Given the description of an element on the screen output the (x, y) to click on. 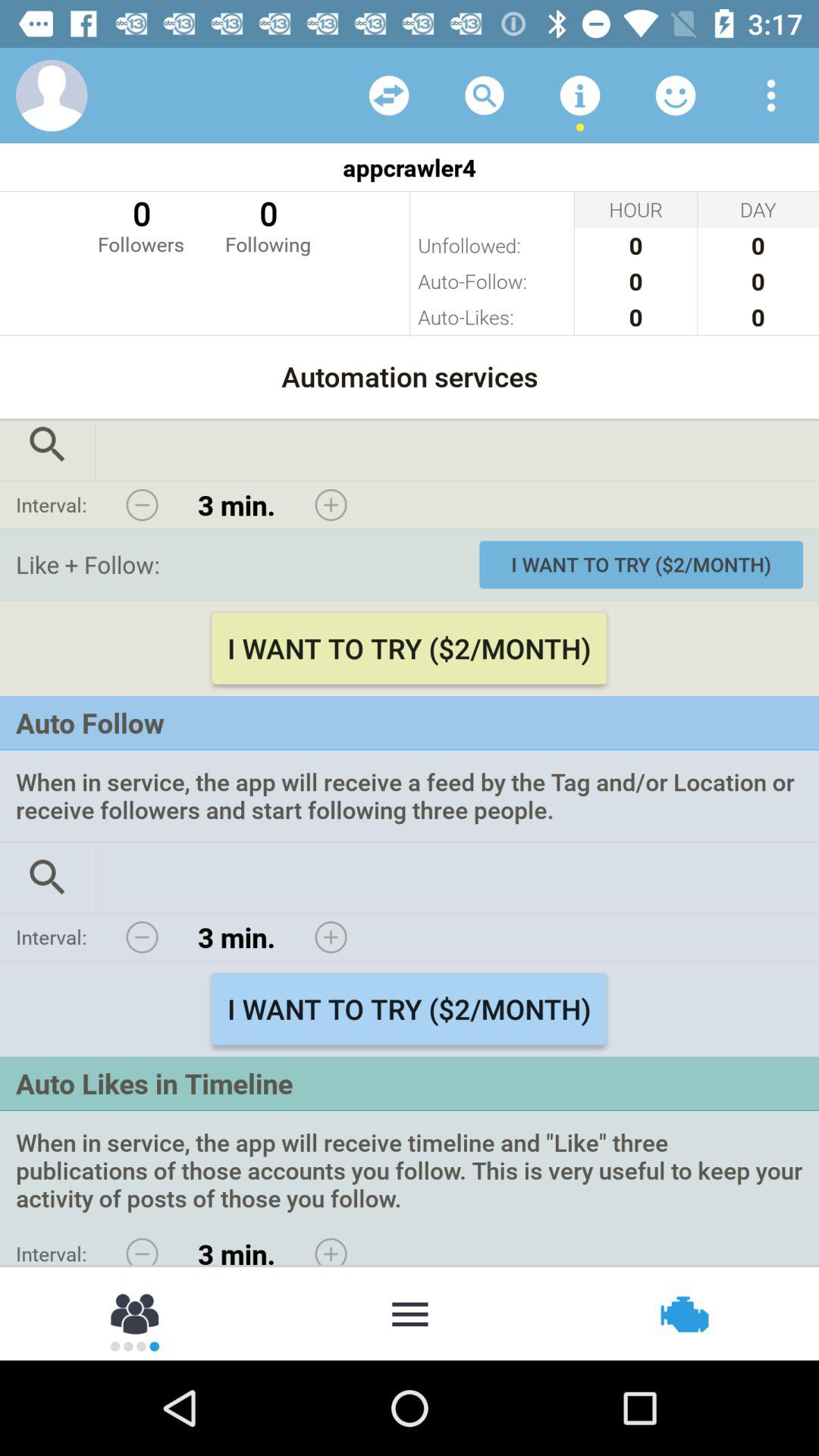
select a lesser time (142, 937)
